Given the description of an element on the screen output the (x, y) to click on. 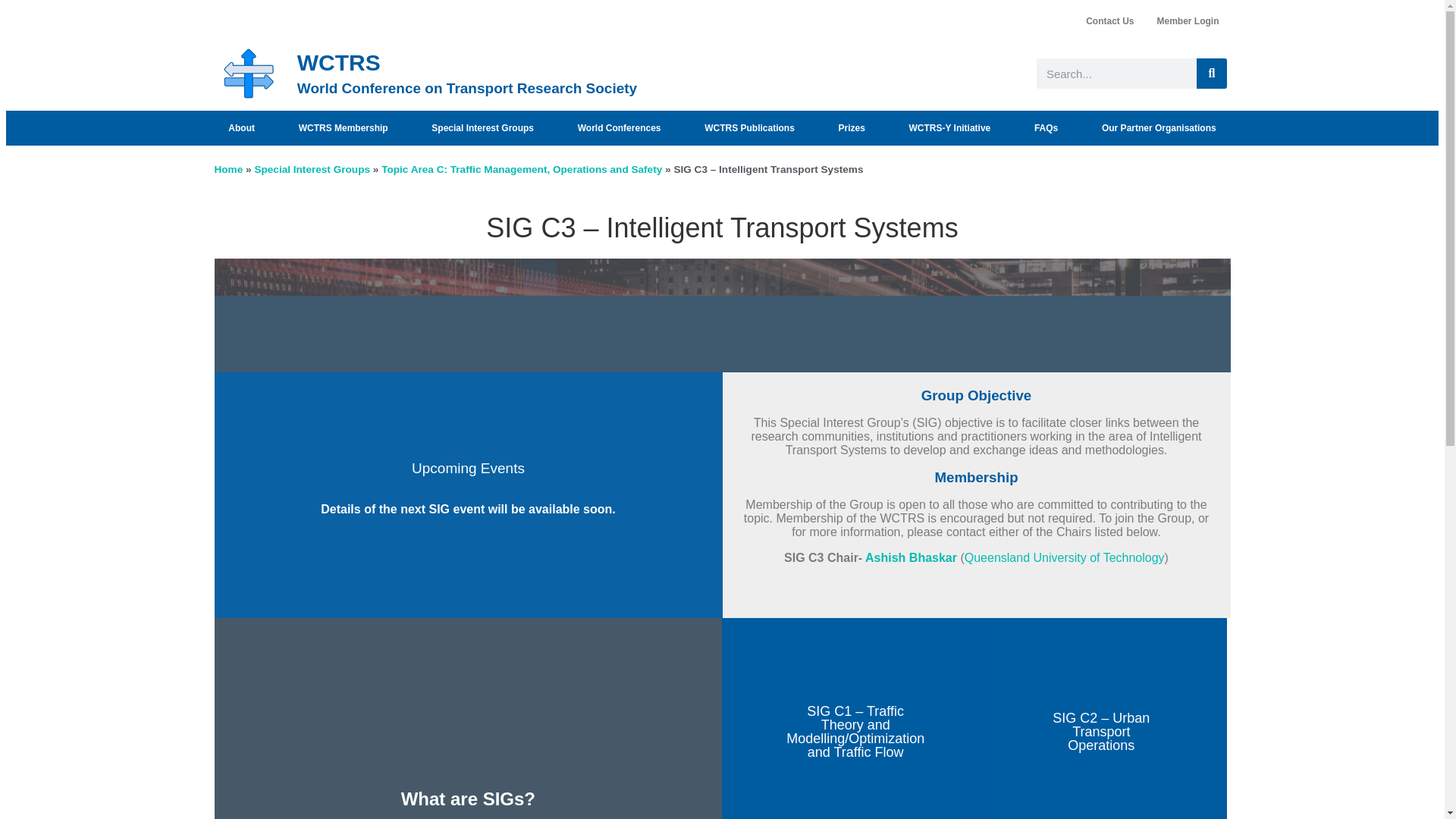
Special Interest Groups (481, 127)
WCTRS Membership (343, 127)
World Conferences (619, 127)
WCTRS-Y Initiative (948, 127)
FAQs (1045, 127)
Prizes (851, 127)
WCTRS Publications (748, 127)
About (241, 127)
Our Partner Organisations (1158, 127)
Contact Us (1109, 20)
